Given the description of an element on the screen output the (x, y) to click on. 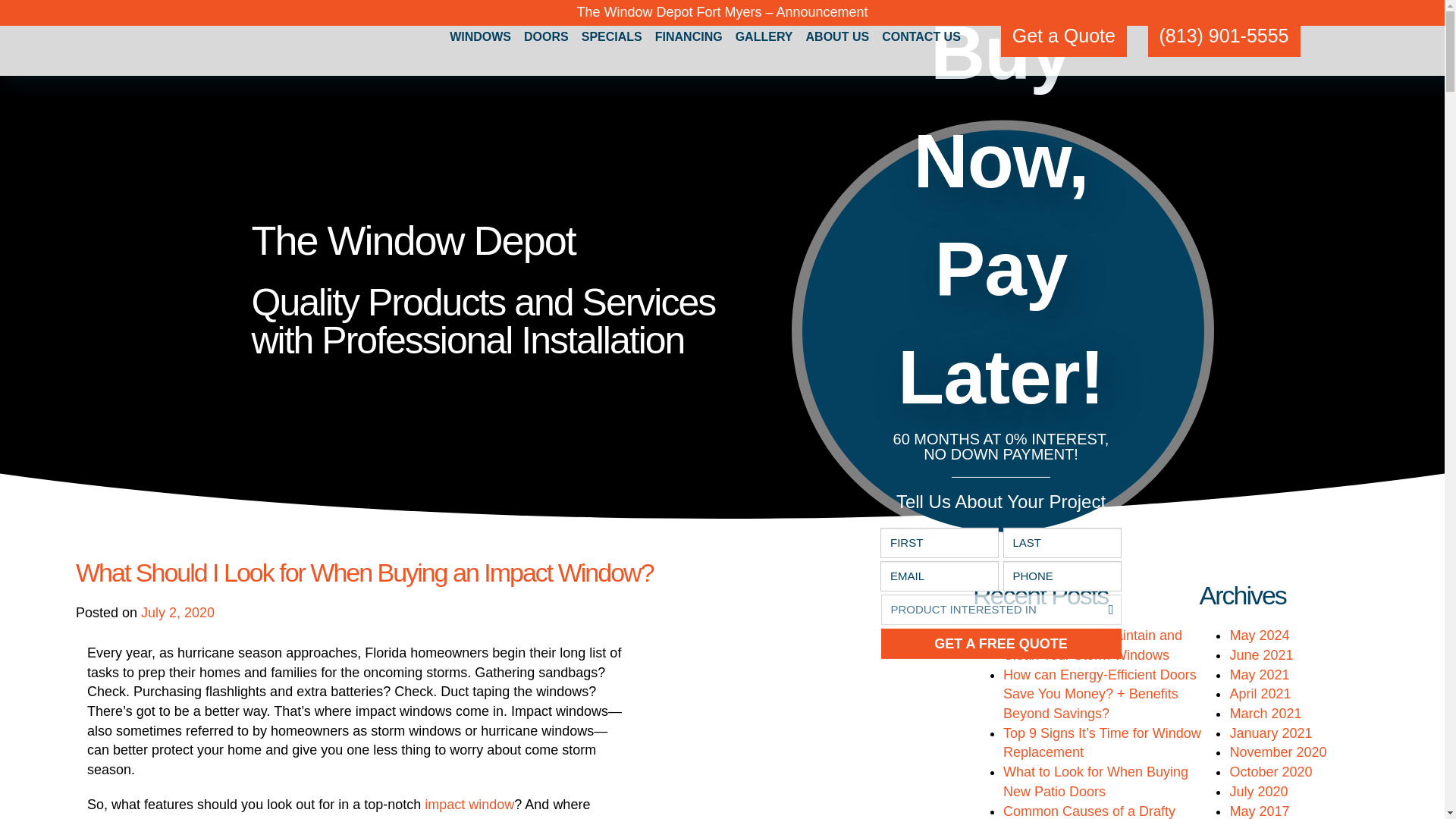
FINANCING (688, 38)
What Should I Look for When Buying an Impact Window? (364, 572)
WINDOWS (480, 38)
CONTACT US (921, 38)
Get a Quote (1063, 35)
SPECIALS (611, 38)
impact window (469, 804)
July 2, 2020 (177, 612)
The Window Depot (206, 28)
GET A FREE QUOTE (1000, 643)
